Given the description of an element on the screen output the (x, y) to click on. 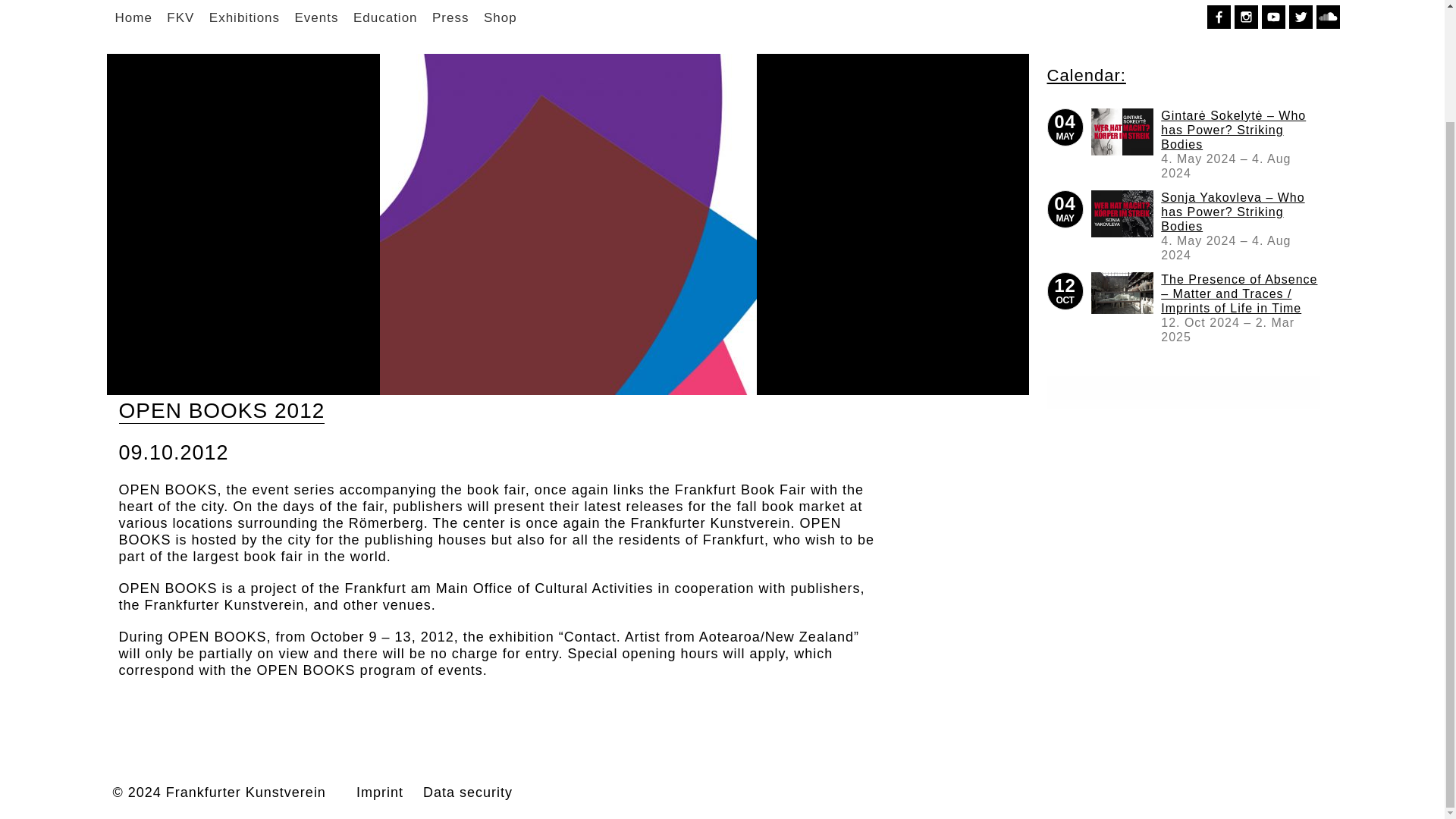
OPEN BOOKS 2012 (1122, 213)
OPEN BOOKS 2012 (1122, 131)
OPEN BOOKS 2012 (1122, 292)
